Given the description of an element on the screen output the (x, y) to click on. 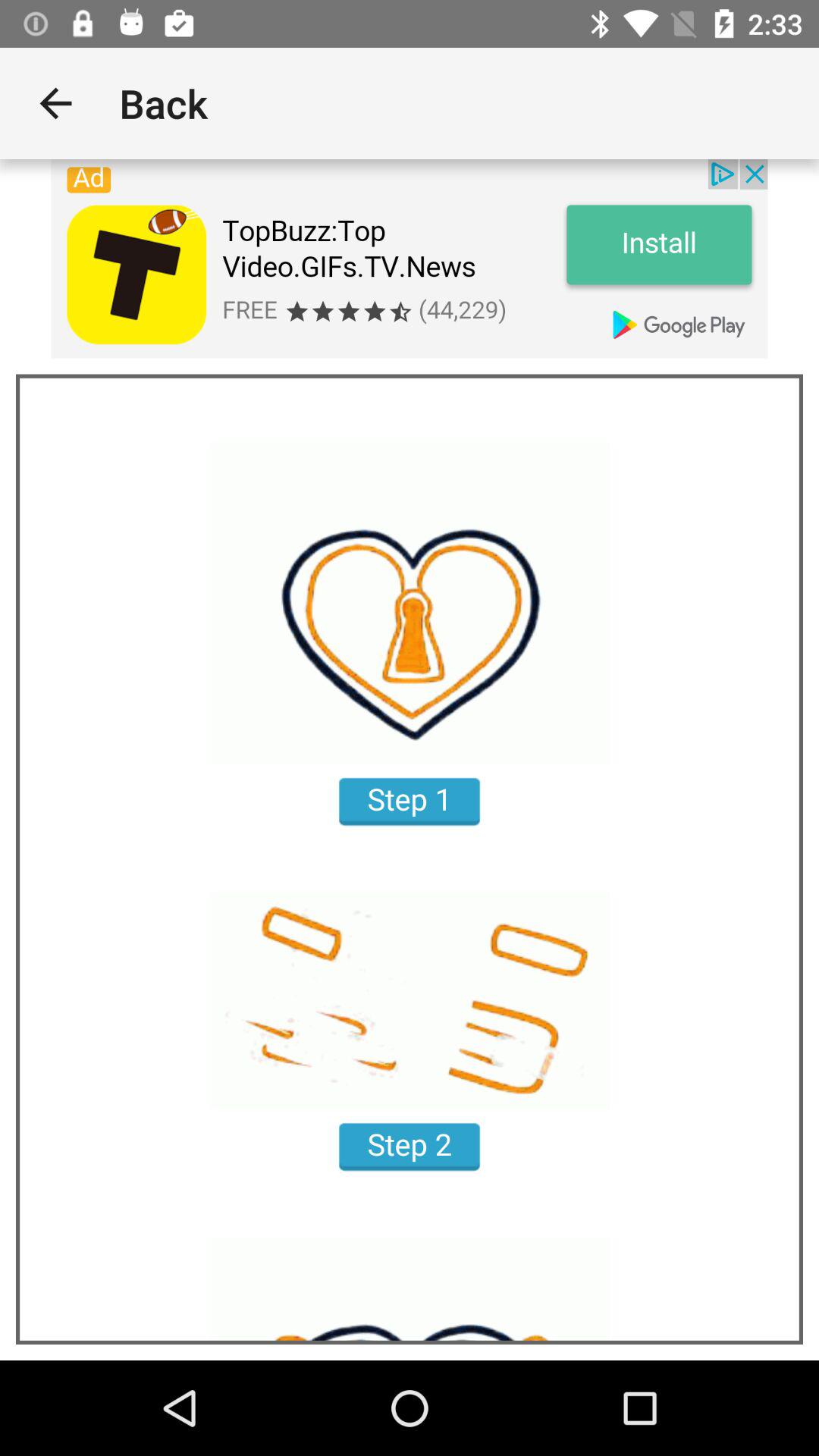
advert pop up (409, 258)
